Given the description of an element on the screen output the (x, y) to click on. 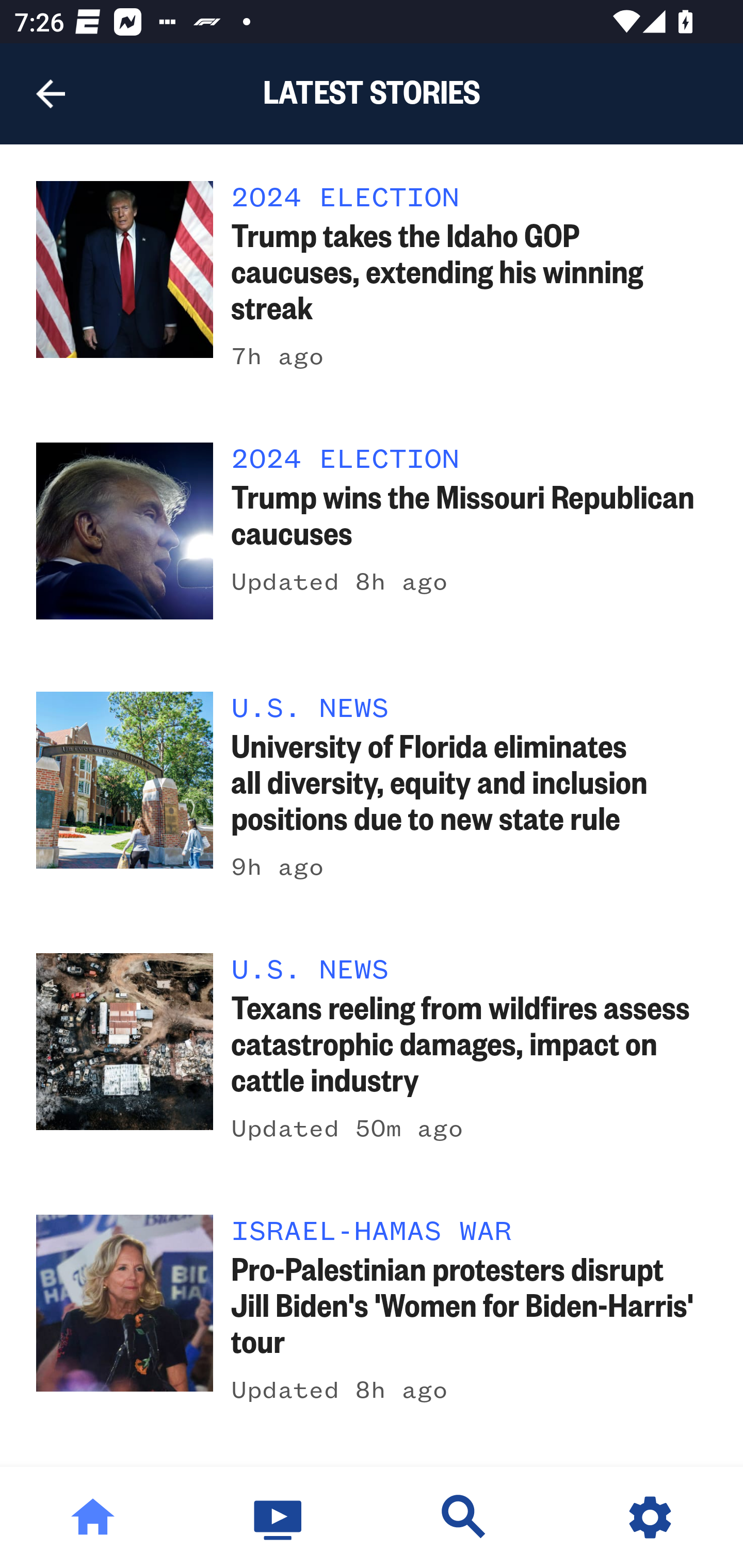
Navigate up (50, 93)
Watch (278, 1517)
Discover (464, 1517)
Settings (650, 1517)
